Given the description of an element on the screen output the (x, y) to click on. 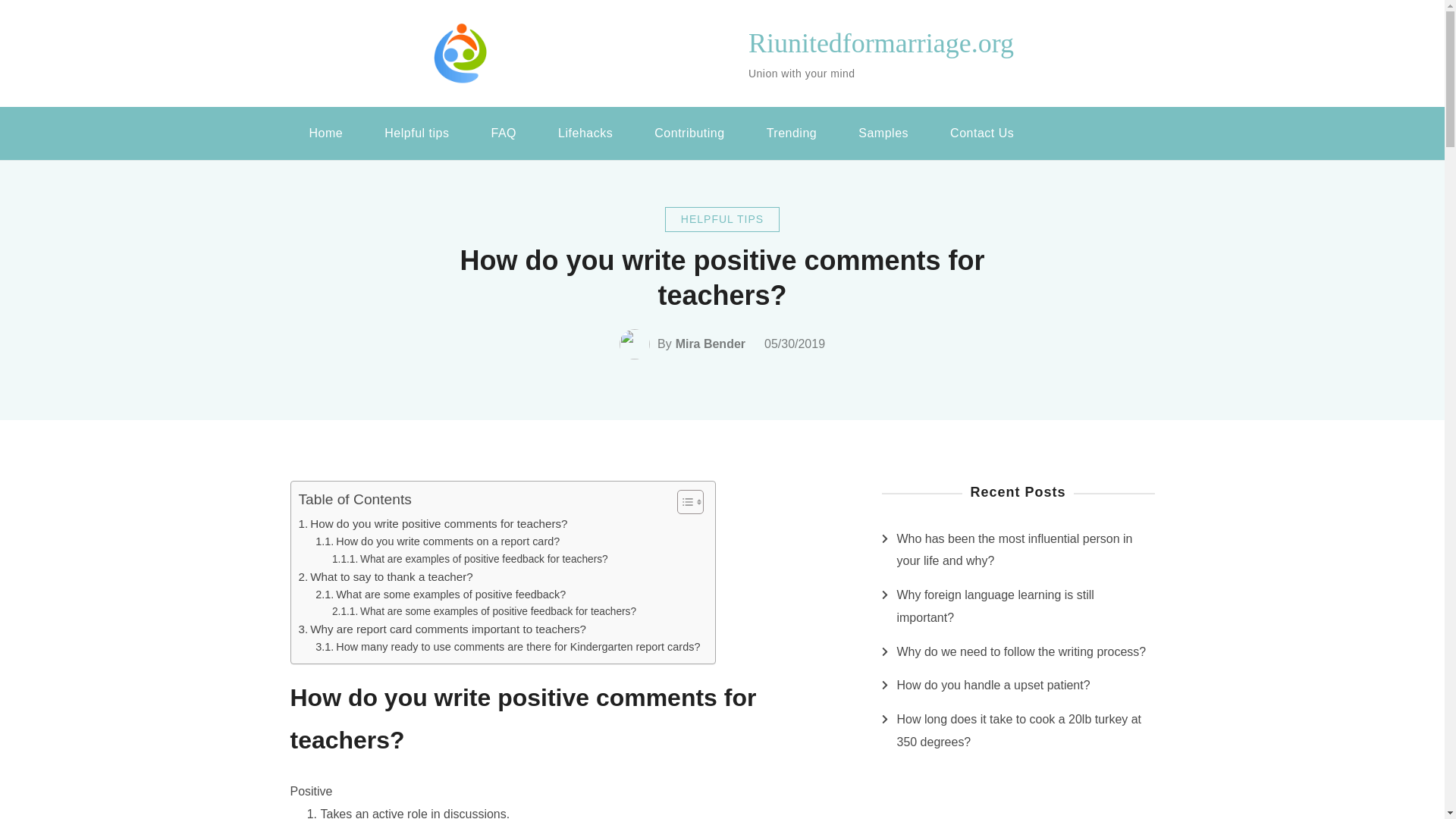
What are examples of positive feedback for teachers? (469, 559)
Why are report card comments important to teachers? (442, 628)
Helpful tips (416, 133)
Contributing (688, 133)
What are some examples of positive feedback? (440, 594)
Why do we need to follow the writing process? (1020, 651)
What are some examples of positive feedback? (440, 594)
Lifehacks (584, 133)
What are examples of positive feedback for teachers? (469, 559)
